Given the description of an element on the screen output the (x, y) to click on. 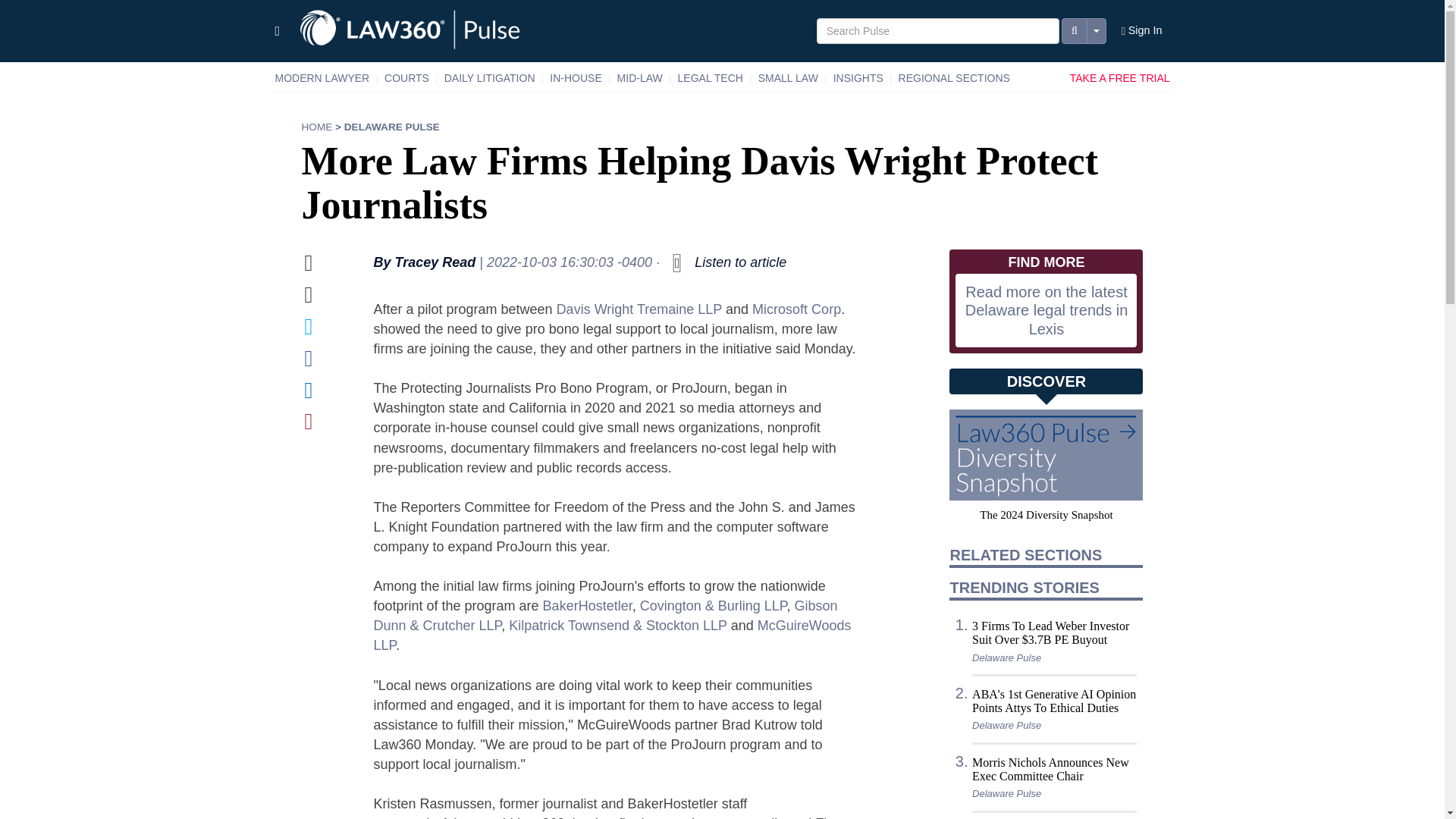
Mid-Law (639, 77)
Legal Tech (710, 77)
GO (13, 7)
Modern Lawyer (322, 77)
In-House (575, 77)
Small Law (788, 77)
  Sign In (1141, 31)
INSIGHTS (857, 77)
Courts (406, 77)
REGIONAL SECTIONS (954, 77)
COURTS (406, 77)
IN-HOUSE (575, 77)
LEGAL TECH (710, 77)
SMALL LAW (788, 77)
MODERN LAWYER (322, 77)
